Given the description of an element on the screen output the (x, y) to click on. 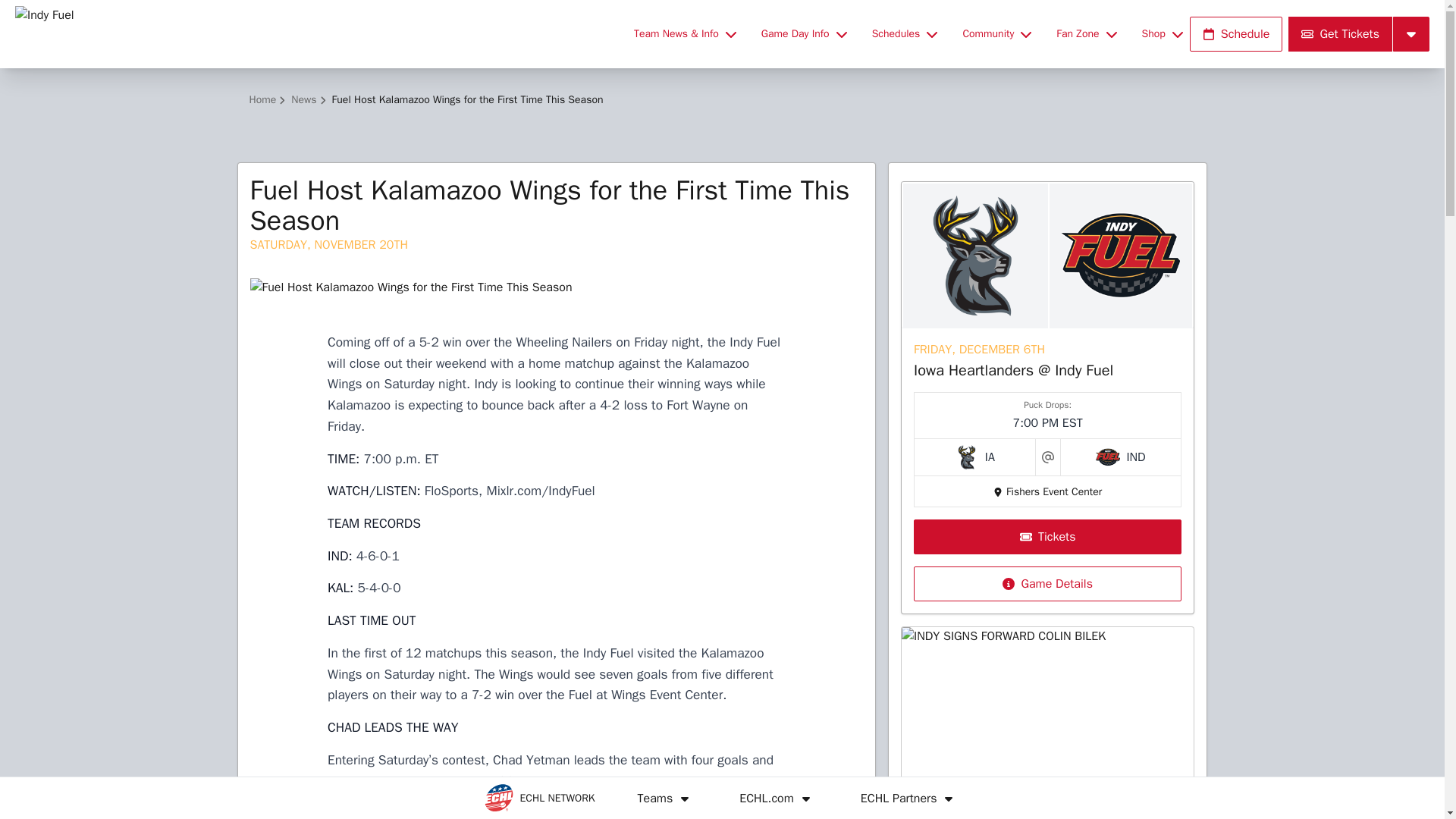
Schedule (1236, 33)
Schedules (905, 33)
Shop (1162, 33)
Game Day Info (804, 33)
Fan Zone (1085, 33)
Indy Fuel (314, 33)
Community (997, 33)
Get Tickets (1339, 33)
